Given the description of an element on the screen output the (x, y) to click on. 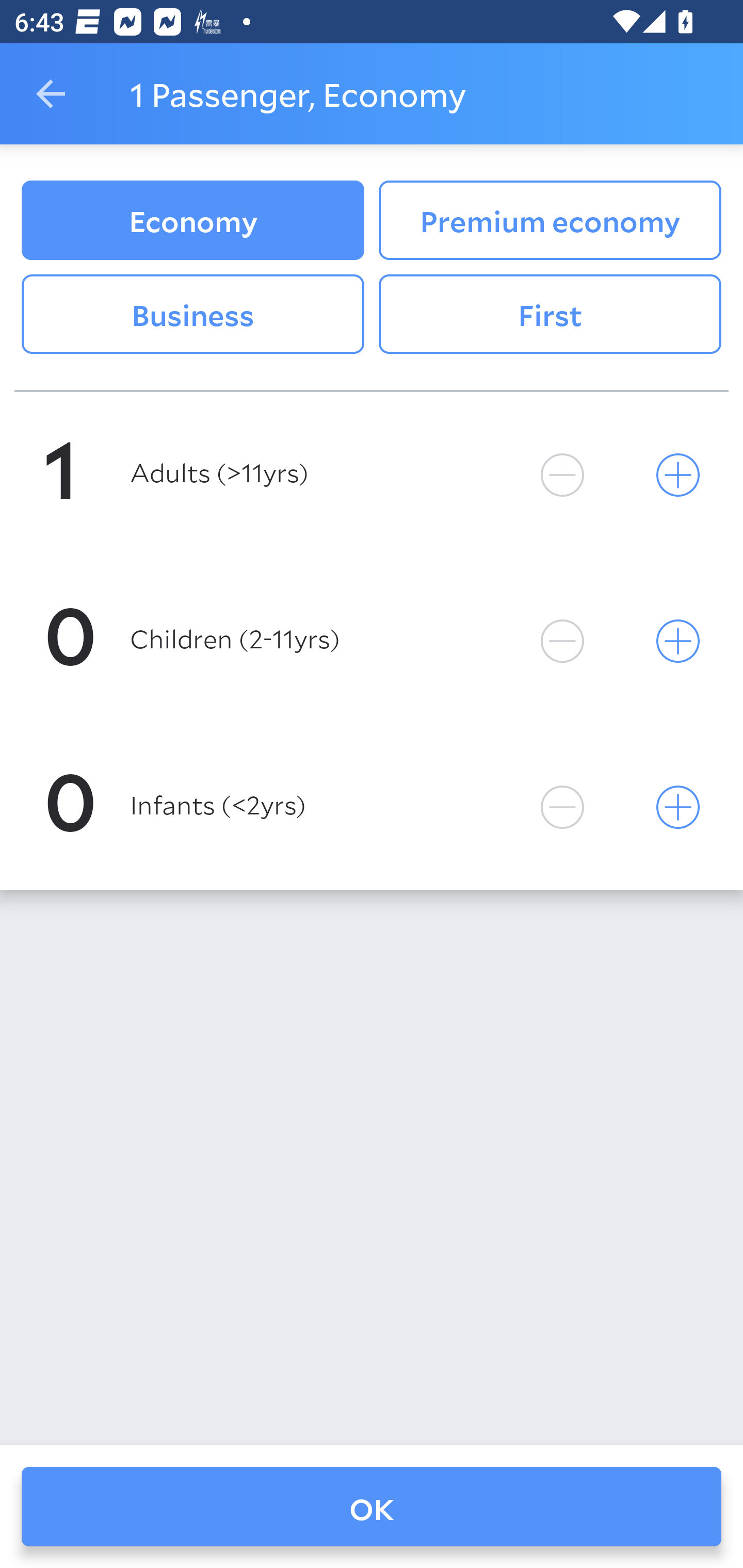
Navigate up (50, 93)
Economy (192, 220)
Premium economy (549, 220)
Business (192, 314)
First (549, 314)
OK (371, 1506)
